Given the description of an element on the screen output the (x, y) to click on. 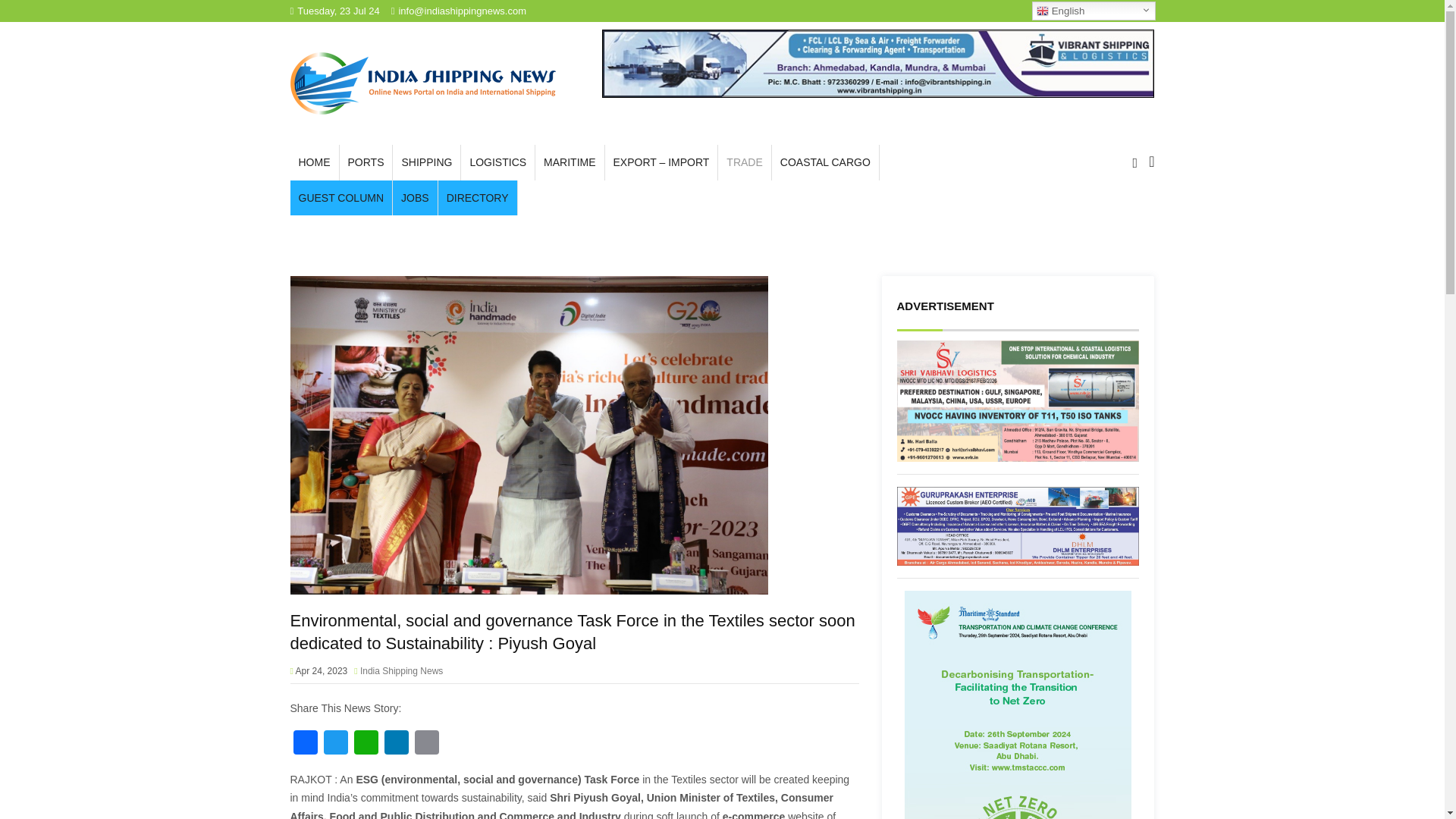
PORTS (366, 162)
TRADE (743, 162)
SHIPPING (426, 162)
India Shipping News (421, 83)
LOGISTICS (497, 162)
JOBS (415, 198)
Email (425, 744)
COASTAL CARGO (825, 162)
Twitter (335, 744)
GUEST COLUMN (340, 198)
MARITIME (569, 162)
Facebook (304, 744)
WhatsApp (365, 744)
LinkedIn (395, 744)
DIRECTORY (477, 198)
